Given the description of an element on the screen output the (x, y) to click on. 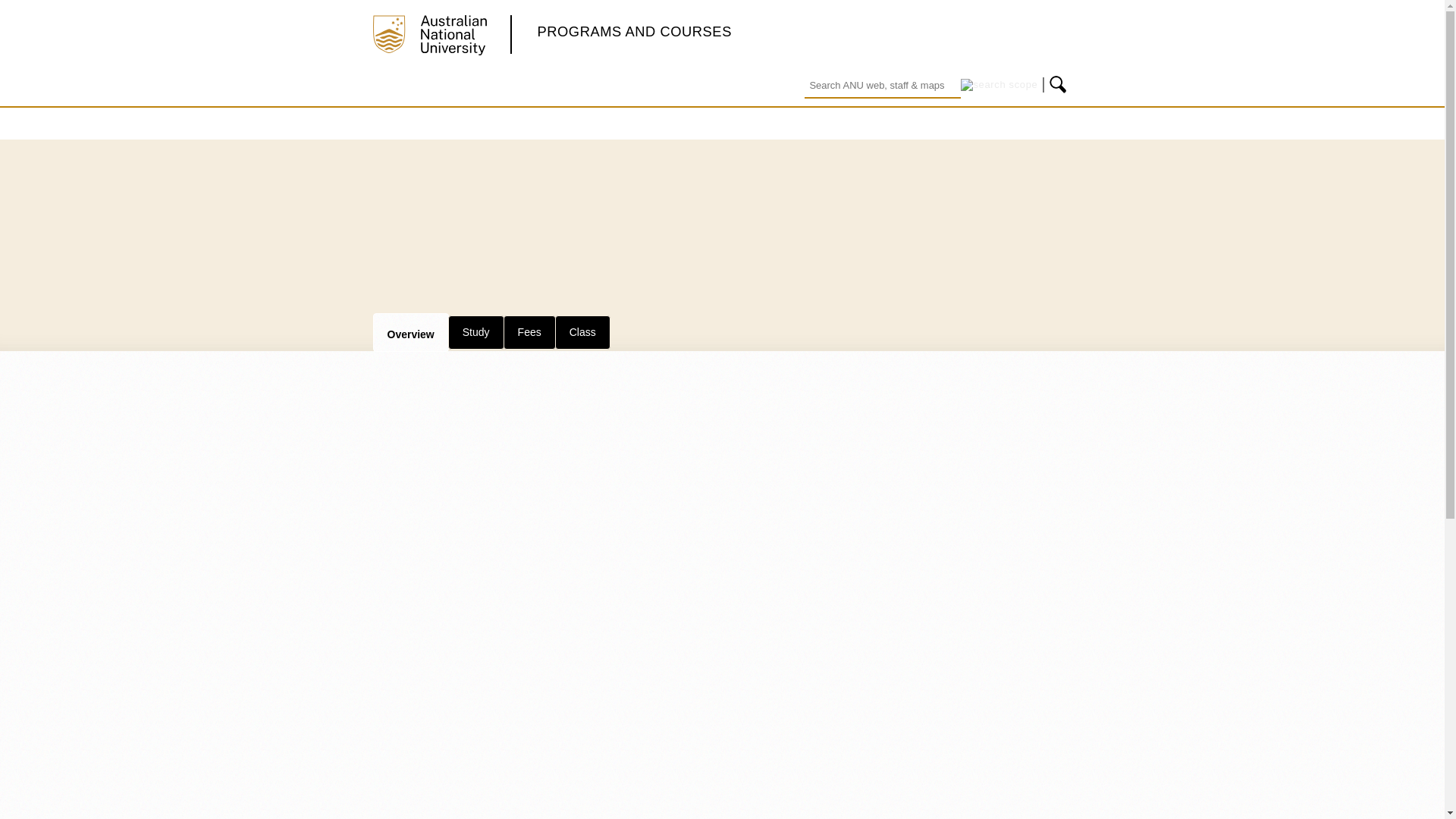
Go (1059, 84)
Class (582, 331)
Fees (529, 331)
Overview (410, 331)
Study (475, 331)
PROGRAMS AND COURSES (633, 31)
